Given the description of an element on the screen output the (x, y) to click on. 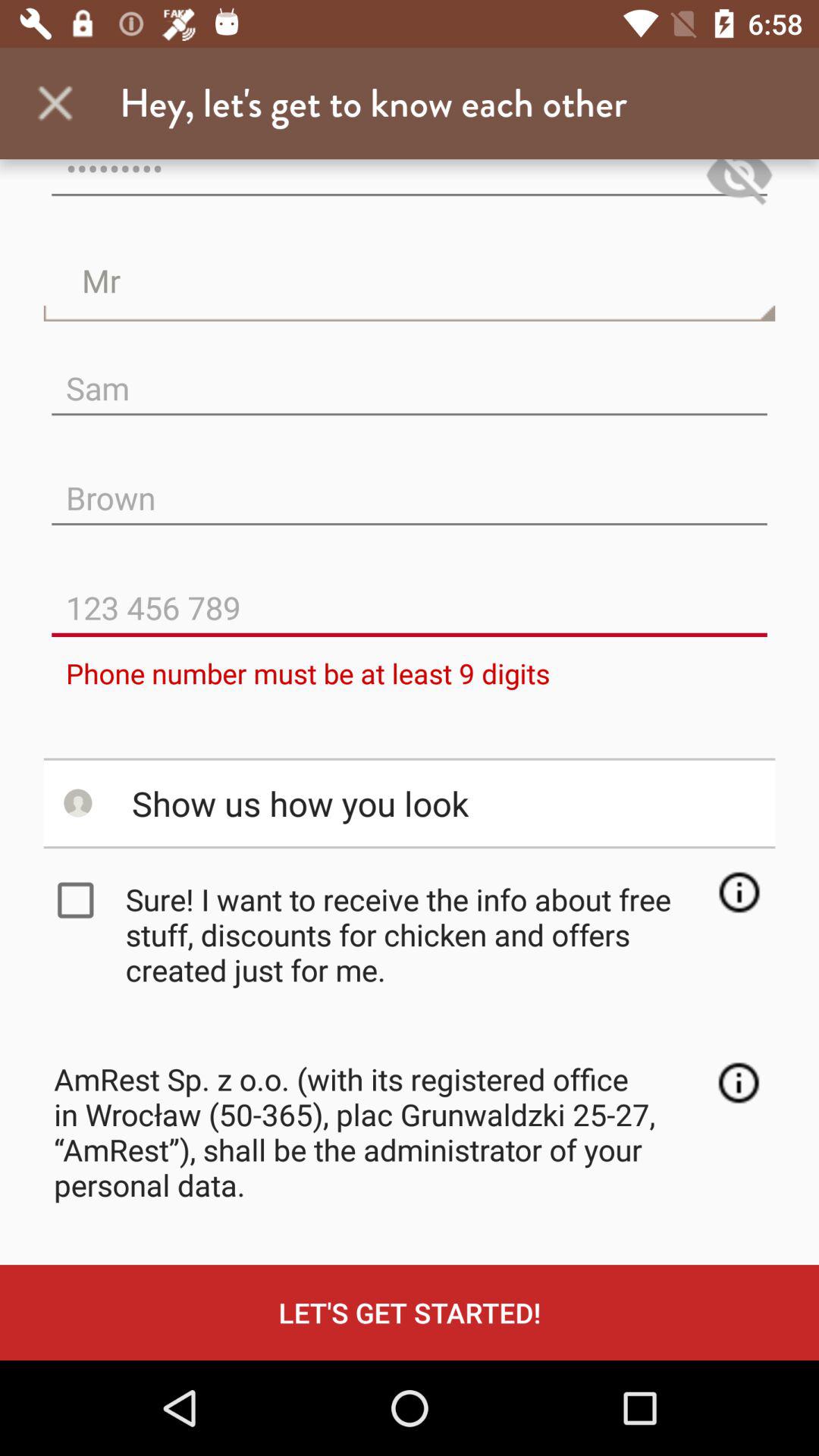
launch the crowd3116 icon (409, 185)
